Given the description of an element on the screen output the (x, y) to click on. 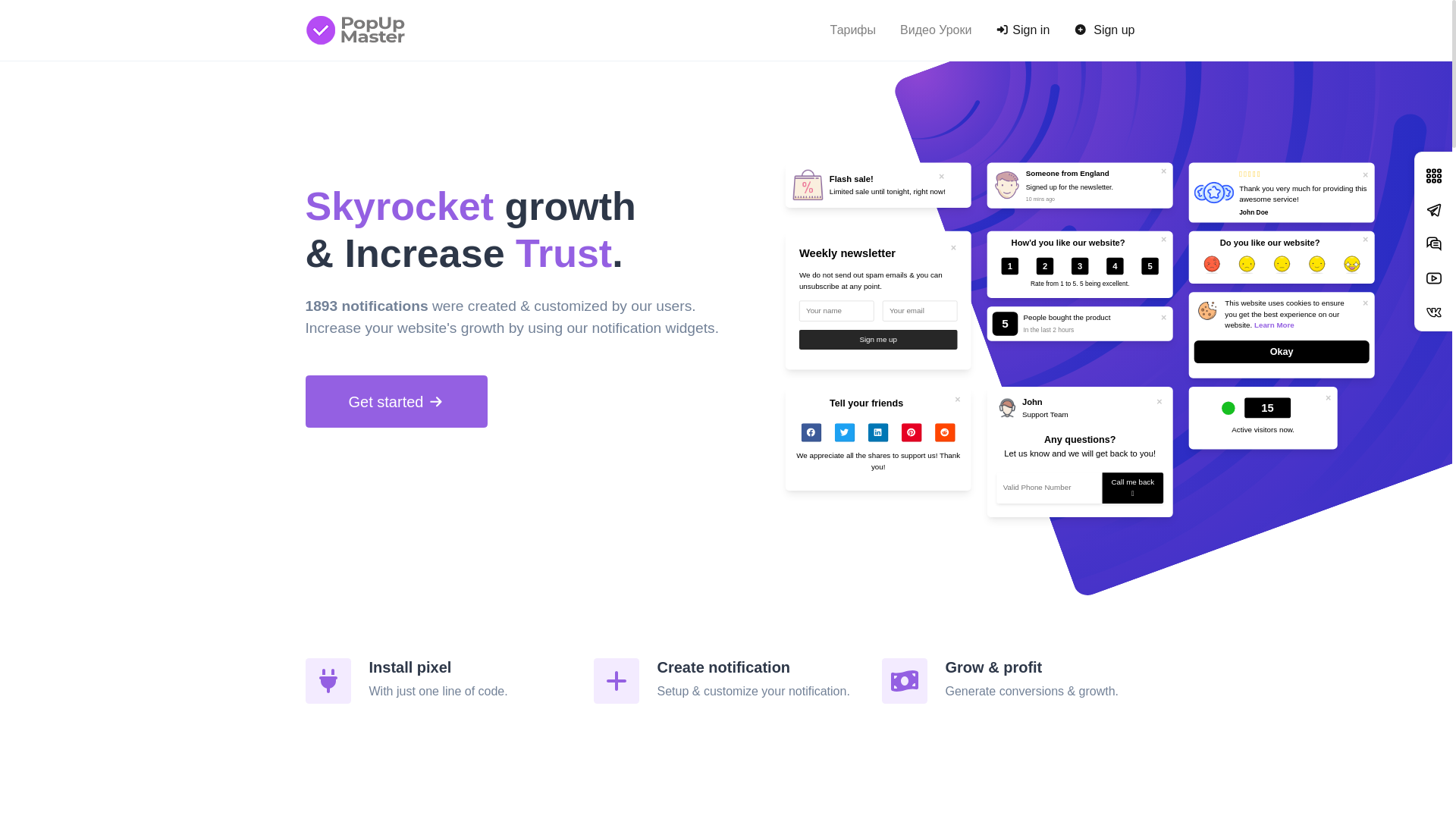
Sign in Element type: text (1022, 30)
2 Element type: text (1047, 269)
Sign me up Element type: text (911, 343)
Reddit Element type: hover (948, 436)
LinkedIn Element type: hover (881, 436)
Get started Element type: text (395, 401)
Twitter Element type: hover (848, 436)
3 Element type: text (1082, 269)
Facebook Element type: hover (814, 436)
Learn More Element type: text (1281, 326)
1 Element type: text (1013, 269)
Okay Element type: text (1318, 356)
5 Element type: text (1153, 269)
4 Element type: text (1117, 269)
Sign up Element type: text (1103, 30)
Pinterest Element type: hover (914, 436)
